Given the description of an element on the screen output the (x, y) to click on. 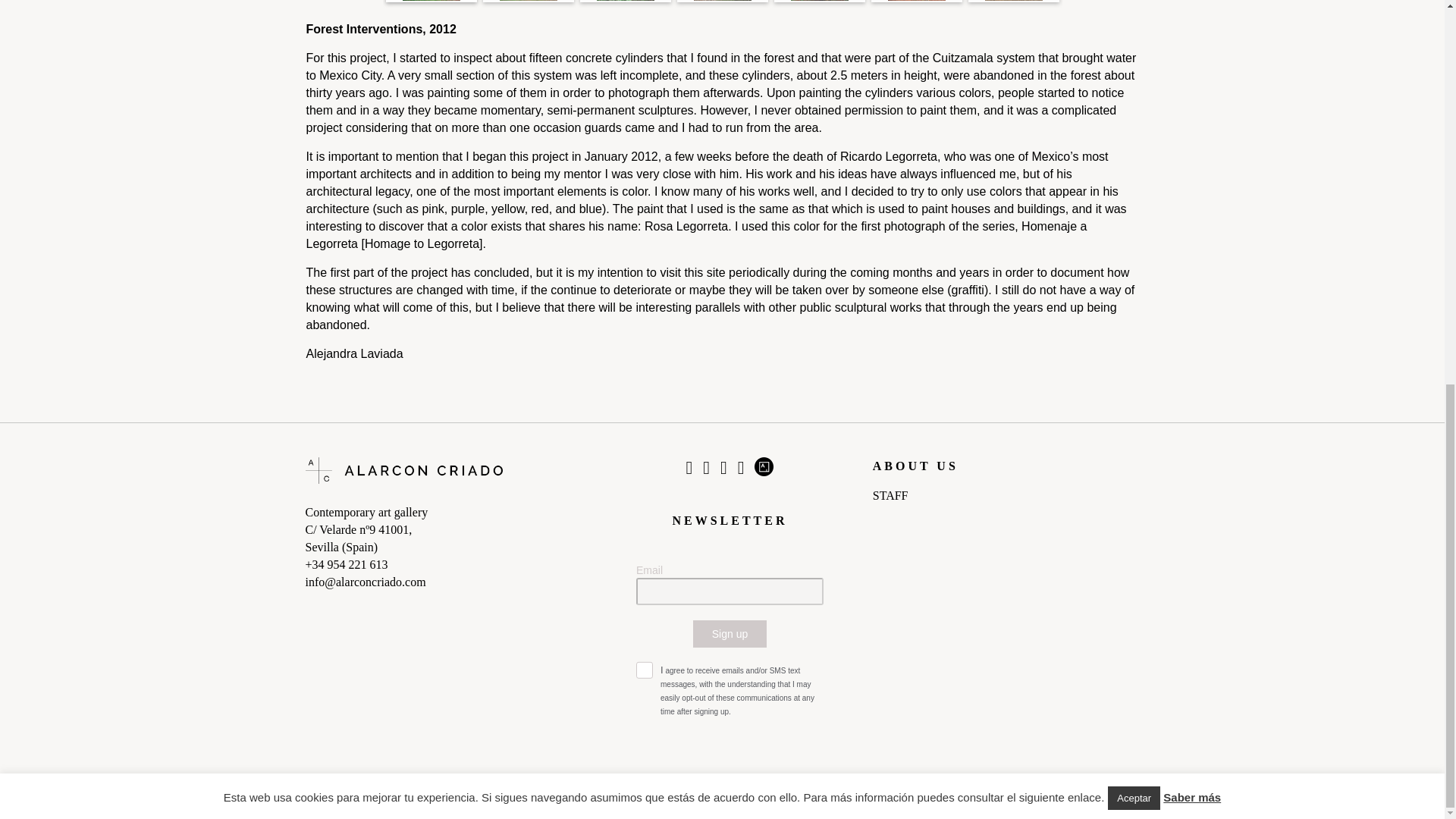
STAFF (1006, 495)
Aceptar (1134, 75)
